Given the description of an element on the screen output the (x, y) to click on. 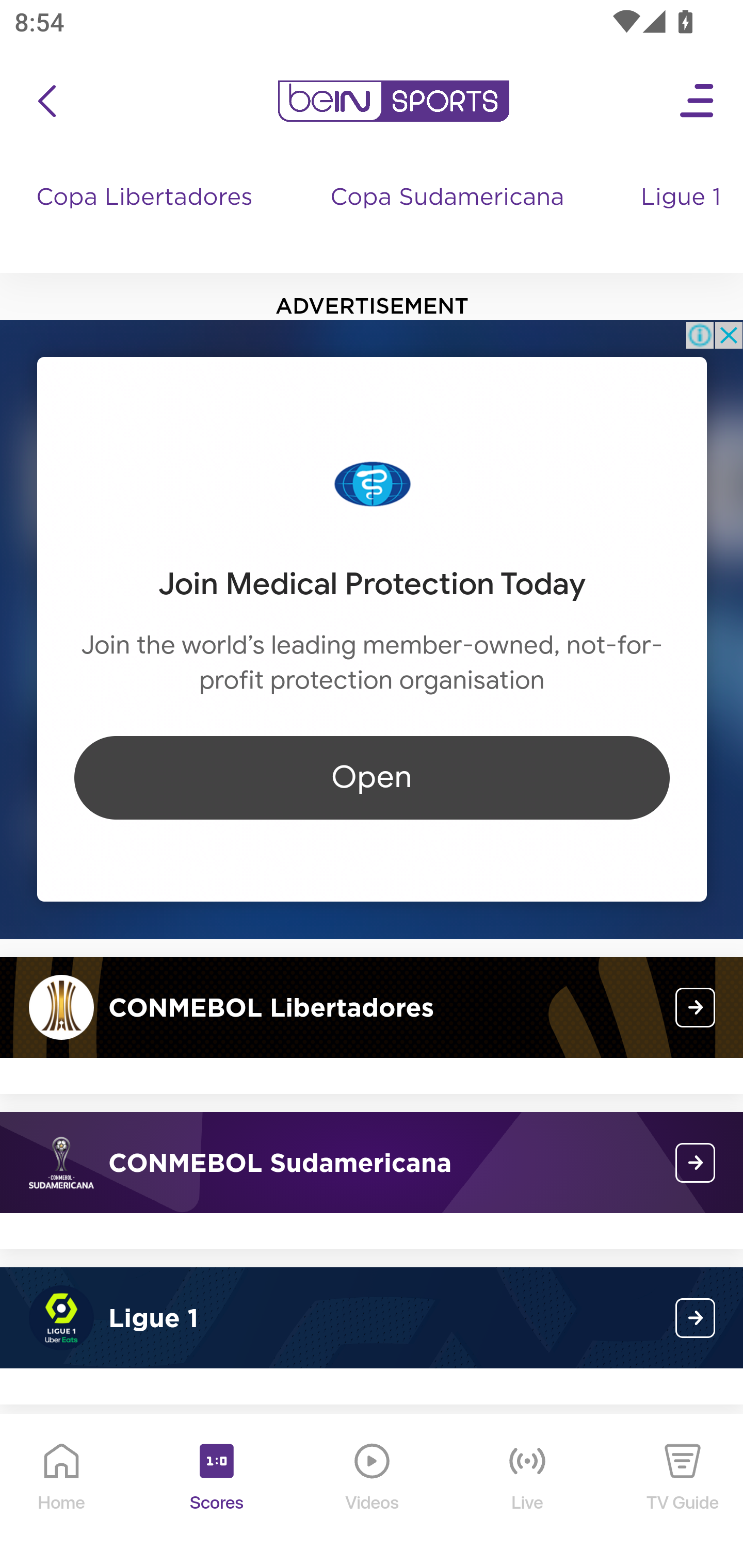
en-us?platform=mobile_android bein logo (392, 101)
icon back (46, 101)
Open Menu Icon (697, 101)
Copa Libertadores (146, 216)
Copa Sudamericana (448, 216)
Ligue 1 (682, 216)
Join Medical Protection Today (371, 583)
Open (371, 777)
conmebol-libertadores?platform=mobile_android (695, 1007)
conmebol-sudamericana?platform=mobile_android (695, 1162)
ligue-1?platform=mobile_android (695, 1317)
Home Home Icon Home (61, 1491)
Scores Scores Icon Scores (216, 1491)
Videos Videos Icon Videos (372, 1491)
TV Guide TV Guide Icon TV Guide (682, 1491)
